Given the description of an element on the screen output the (x, y) to click on. 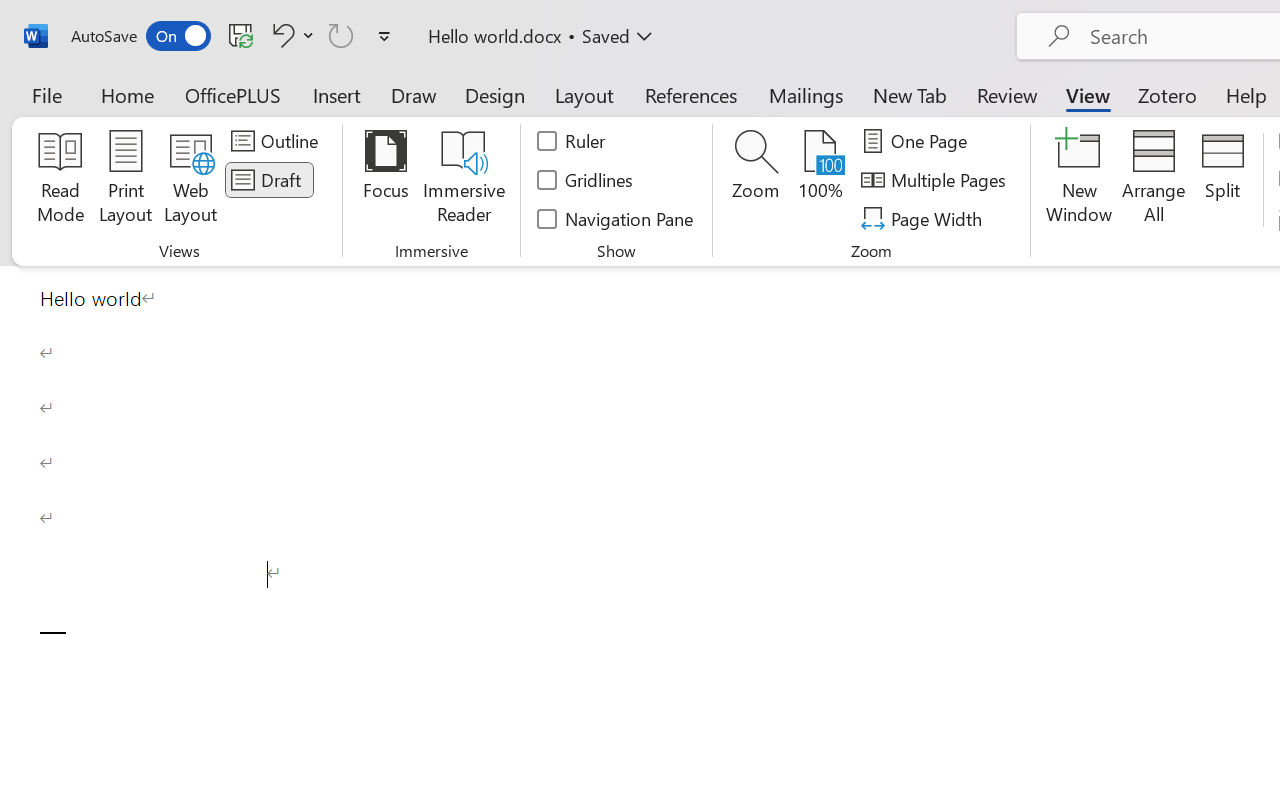
From Current Slide... (224, 114)
From Beginning... (158, 114)
Learn More (646, 114)
